Given the description of an element on the screen output the (x, y) to click on. 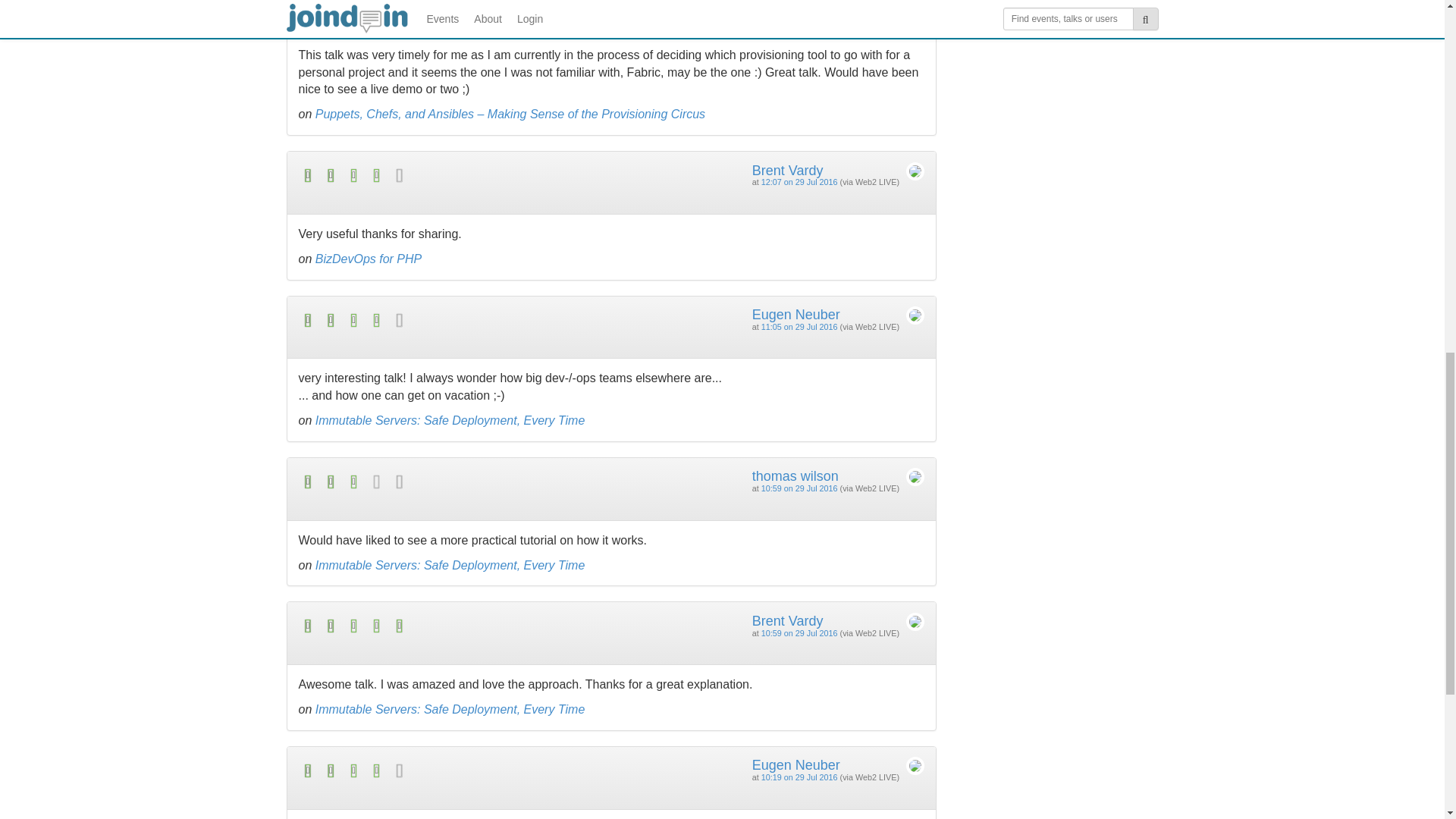
Brent Vardy (788, 620)
11:05 on 29 Jul 2016 (799, 326)
10:59 on 29 Jul 2016 (799, 633)
Immutable Servers: Safe Deployment, Every Time (450, 708)
Eugen Neuber (796, 314)
Rated 4 (454, 770)
Brent Vardy (788, 169)
12:07 on 29 Jul 2016 (799, 181)
thomas wilson (795, 476)
Immutable Servers: Safe Deployment, Every Time (450, 420)
